Given the description of an element on the screen output the (x, y) to click on. 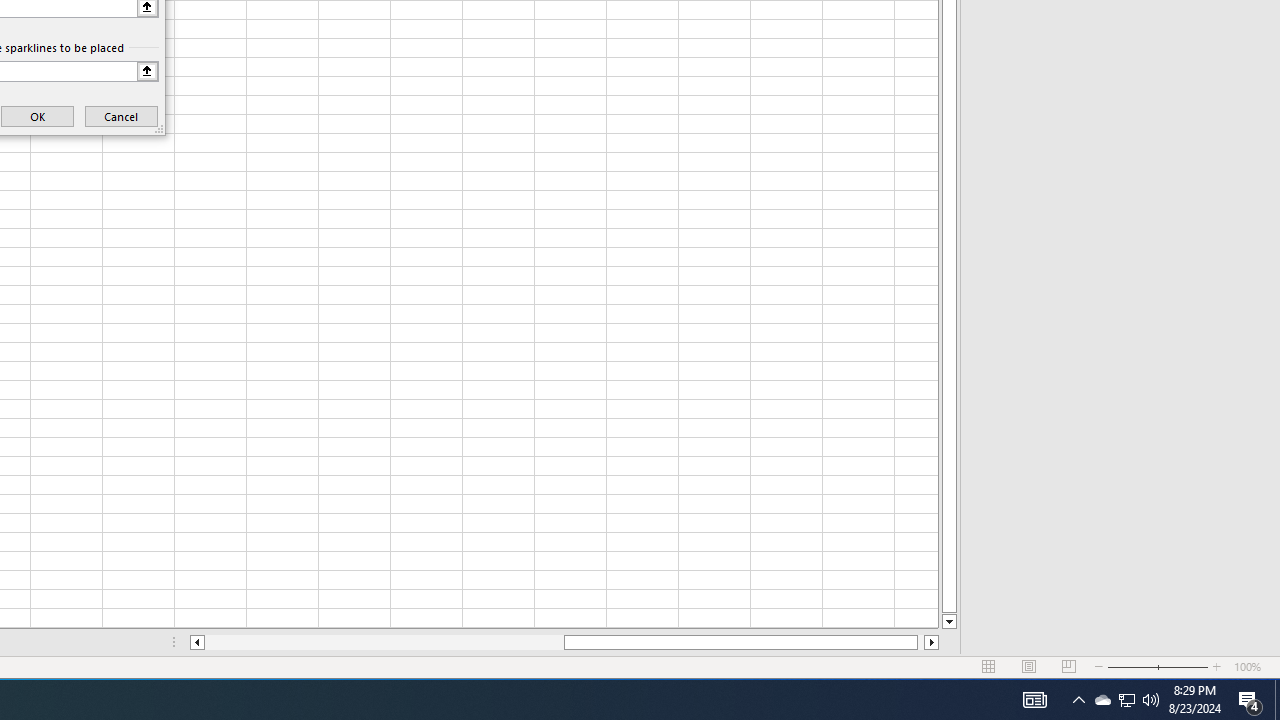
Page Break Preview (1069, 667)
Page left (384, 642)
Line down (948, 622)
Zoom Out (1131, 667)
Column left (196, 642)
Column right (932, 642)
Class: NetUIScrollBar (564, 642)
Zoom (1158, 667)
Page right (920, 642)
Zoom In (1217, 667)
